Given the description of an element on the screen output the (x, y) to click on. 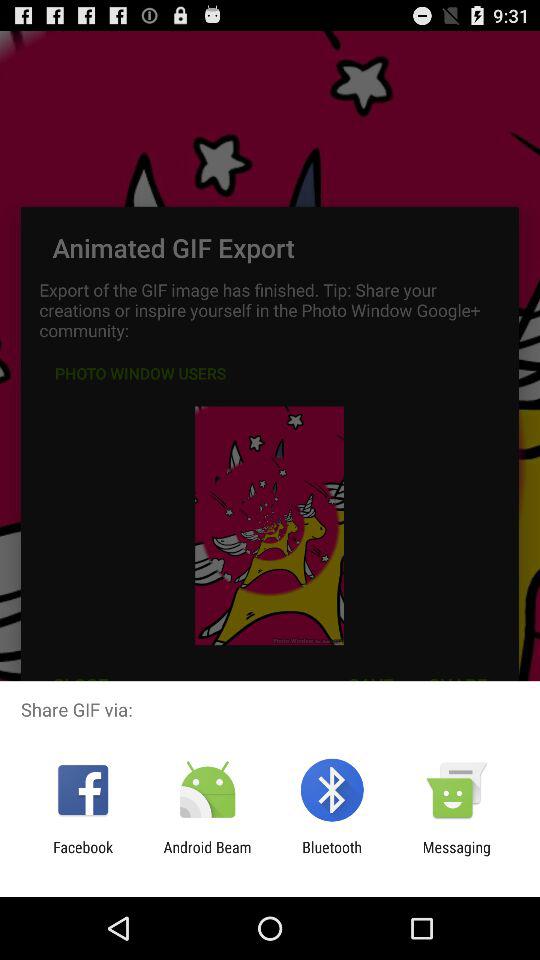
scroll until the facebook app (83, 856)
